Given the description of an element on the screen output the (x, y) to click on. 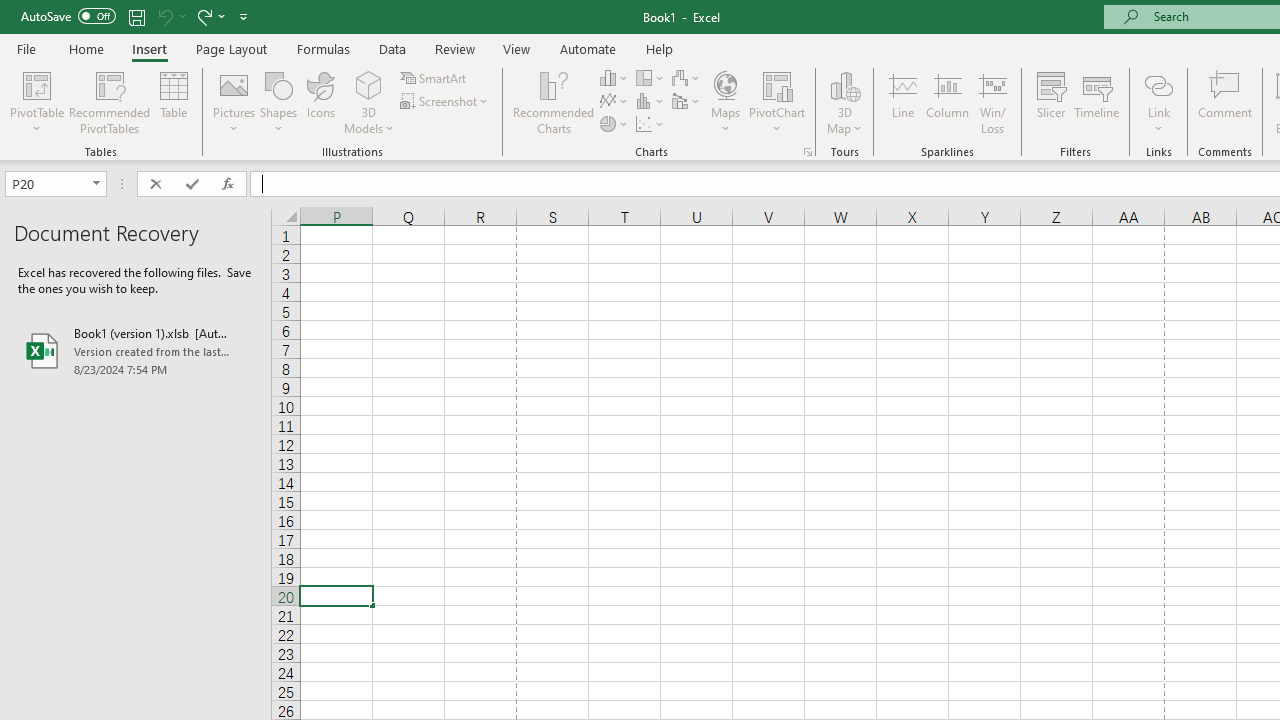
Insert Scatter (X, Y) or Bubble Chart (651, 124)
Page Layout (230, 48)
Screenshot (445, 101)
3D Map (845, 84)
Icons (320, 102)
Open (96, 183)
Recommended Charts (808, 151)
Column (947, 102)
View (517, 48)
Comment (1224, 102)
Redo (209, 15)
Automate (588, 48)
Insert Hierarchy Chart (651, 78)
PivotTable (36, 102)
